Given the description of an element on the screen output the (x, y) to click on. 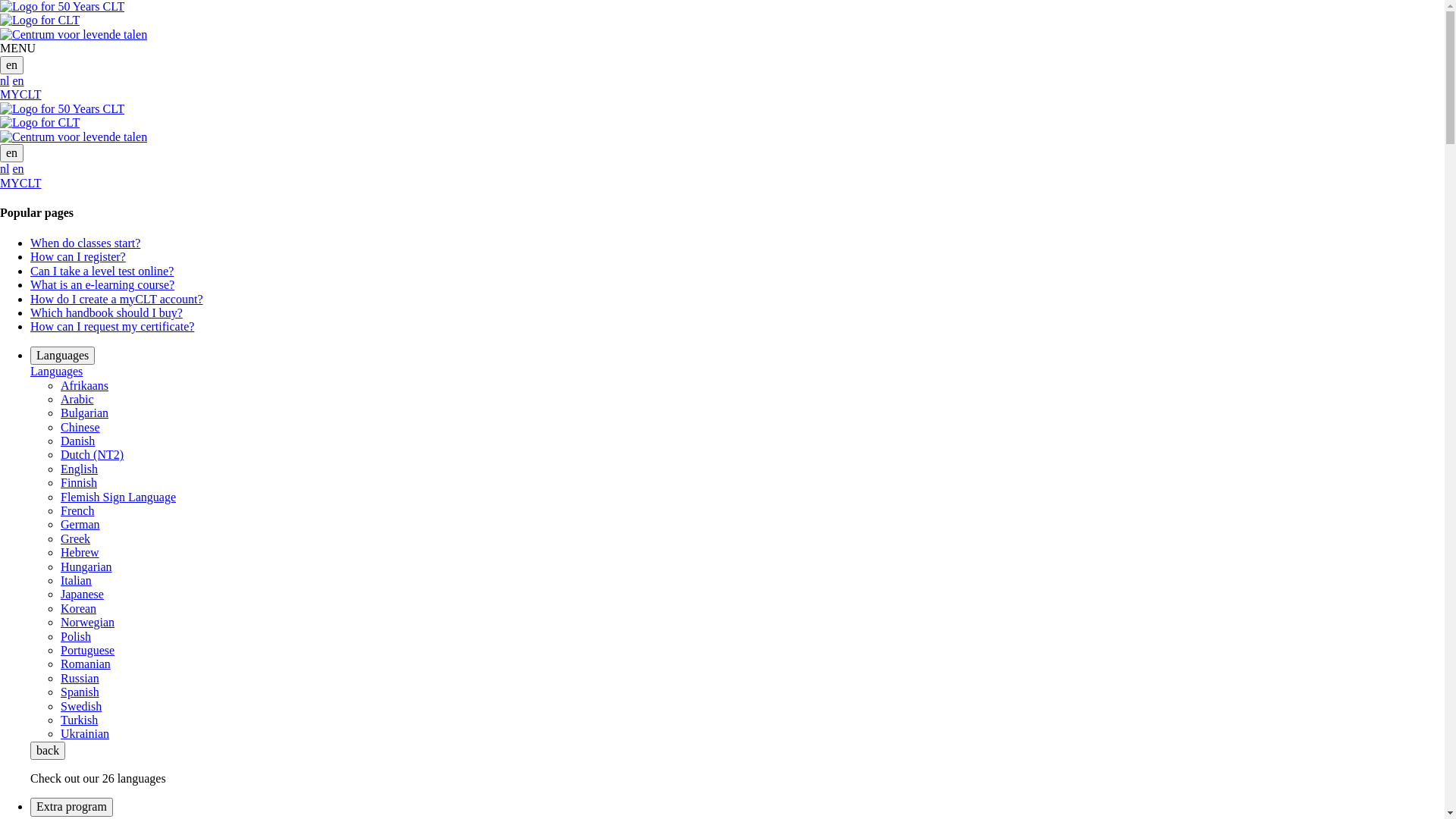
How can I request my certificate? Element type: text (112, 326)
Greek Element type: text (75, 538)
Which handbook should I buy? Element type: text (106, 312)
Hungarian Element type: text (86, 566)
Chinese Element type: text (80, 426)
English Element type: text (78, 468)
Japanese Element type: text (81, 593)
Portuguese Element type: text (87, 649)
en Element type: text (17, 168)
MYCLT Element type: text (20, 93)
German Element type: text (80, 523)
Ukrainian Element type: text (84, 733)
Bulgarian Element type: text (84, 412)
Extra program Element type: text (71, 806)
Languages Element type: text (62, 355)
How do I create a myCLT account? Element type: text (116, 298)
en Element type: text (17, 80)
French Element type: text (77, 510)
Turkish Element type: text (78, 719)
en Element type: text (11, 65)
Korean Element type: text (78, 608)
When do classes start? Element type: text (85, 242)
Russian Element type: text (79, 677)
Arabic Element type: text (77, 398)
Spanish Element type: text (79, 691)
What is an e-learning course? Element type: text (102, 284)
How can I register? Element type: text (77, 256)
en Element type: text (11, 153)
nl Element type: text (4, 80)
Dutch (NT2) Element type: text (91, 454)
Swedish Element type: text (80, 705)
Danish Element type: text (77, 440)
Can I take a level test online? Element type: text (101, 270)
Polish Element type: text (75, 636)
Flemish Sign Language Element type: text (117, 496)
Languages Element type: text (56, 370)
Finnish Element type: text (78, 482)
Norwegian Element type: text (87, 621)
nl Element type: text (4, 168)
Afrikaans Element type: text (84, 385)
back Element type: text (47, 750)
Italian Element type: text (75, 580)
Hebrew Element type: text (79, 552)
MYCLT Element type: text (20, 182)
Romanian Element type: text (85, 663)
